Given the description of an element on the screen output the (x, y) to click on. 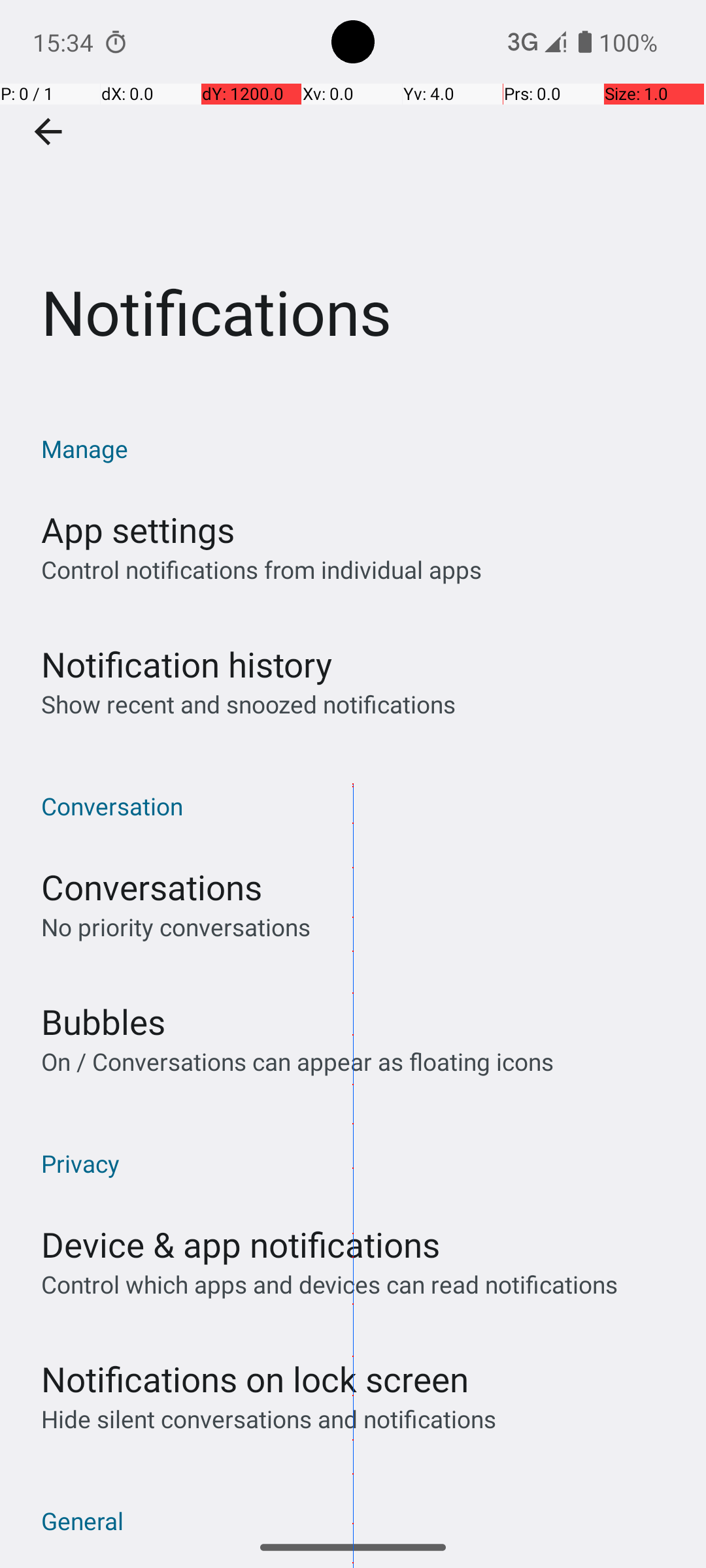
Manage Element type: android.widget.TextView (359, 448)
App settings Element type: android.widget.TextView (137, 529)
Control notifications from individual apps Element type: android.widget.TextView (261, 569)
Show recent and snoozed notifications Element type: android.widget.TextView (248, 703)
Conversation Element type: android.widget.TextView (359, 805)
No priority conversations Element type: android.widget.TextView (175, 926)
Bubbles Element type: android.widget.TextView (103, 1021)
On / Conversations can appear as floating icons Element type: android.widget.TextView (297, 1061)
Privacy Element type: android.widget.TextView (359, 1162)
Control which apps and devices can read notifications Element type: android.widget.TextView (329, 1283)
Notifications on lock screen Element type: android.widget.TextView (254, 1378)
Hide silent conversations and notifications Element type: android.widget.TextView (268, 1418)
